Given the description of an element on the screen output the (x, y) to click on. 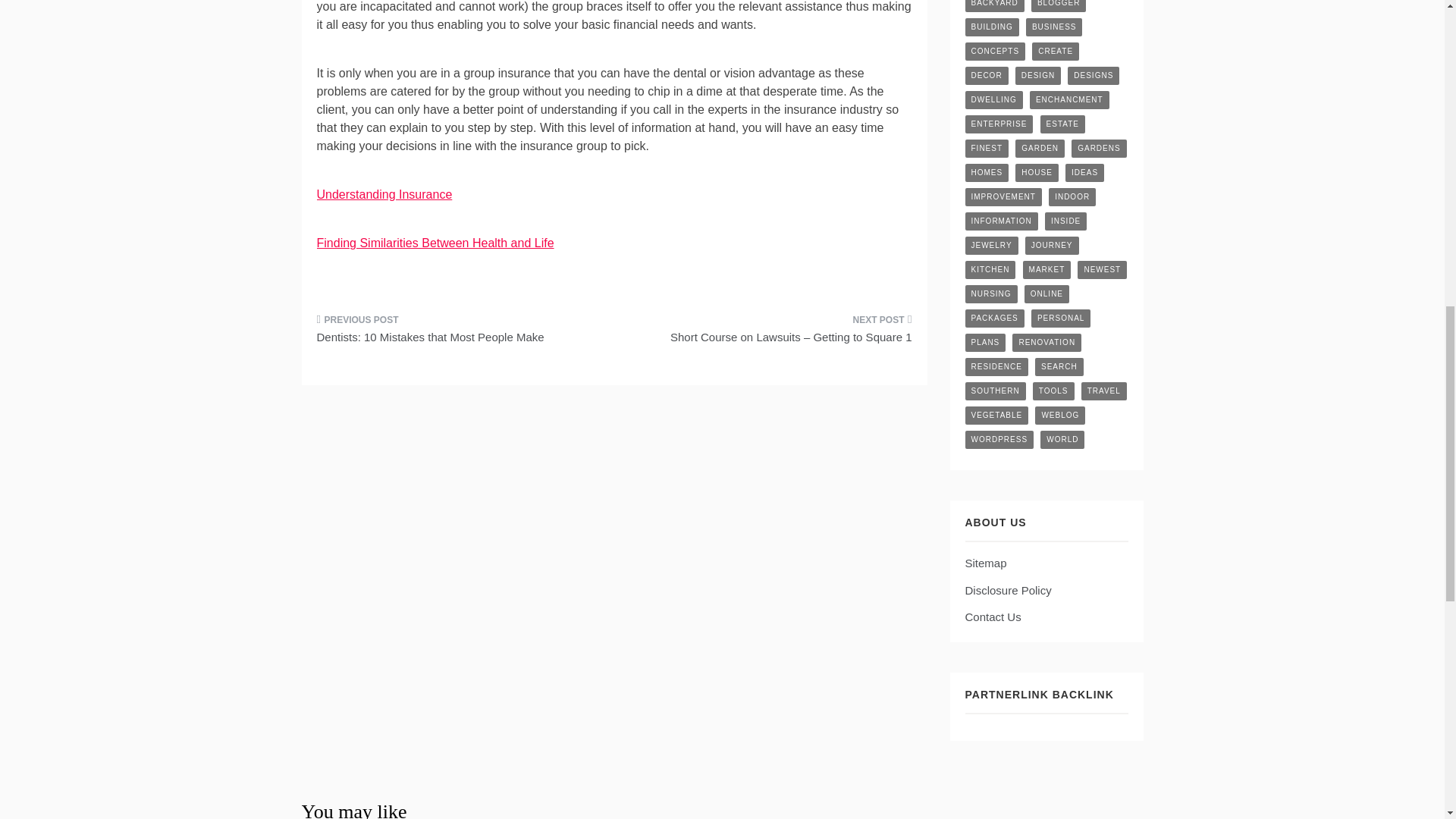
DECOR (985, 75)
BUILDING (990, 27)
Dentists: 10 Mistakes that Most People Make (460, 333)
Understanding Insurance (384, 194)
BLOGGER (1058, 6)
BUSINESS (1054, 27)
CONCEPTS (994, 51)
CREATE (1055, 51)
DESIGNS (1093, 75)
Finding Similarities Between Health and Life (435, 242)
